Given the description of an element on the screen output the (x, y) to click on. 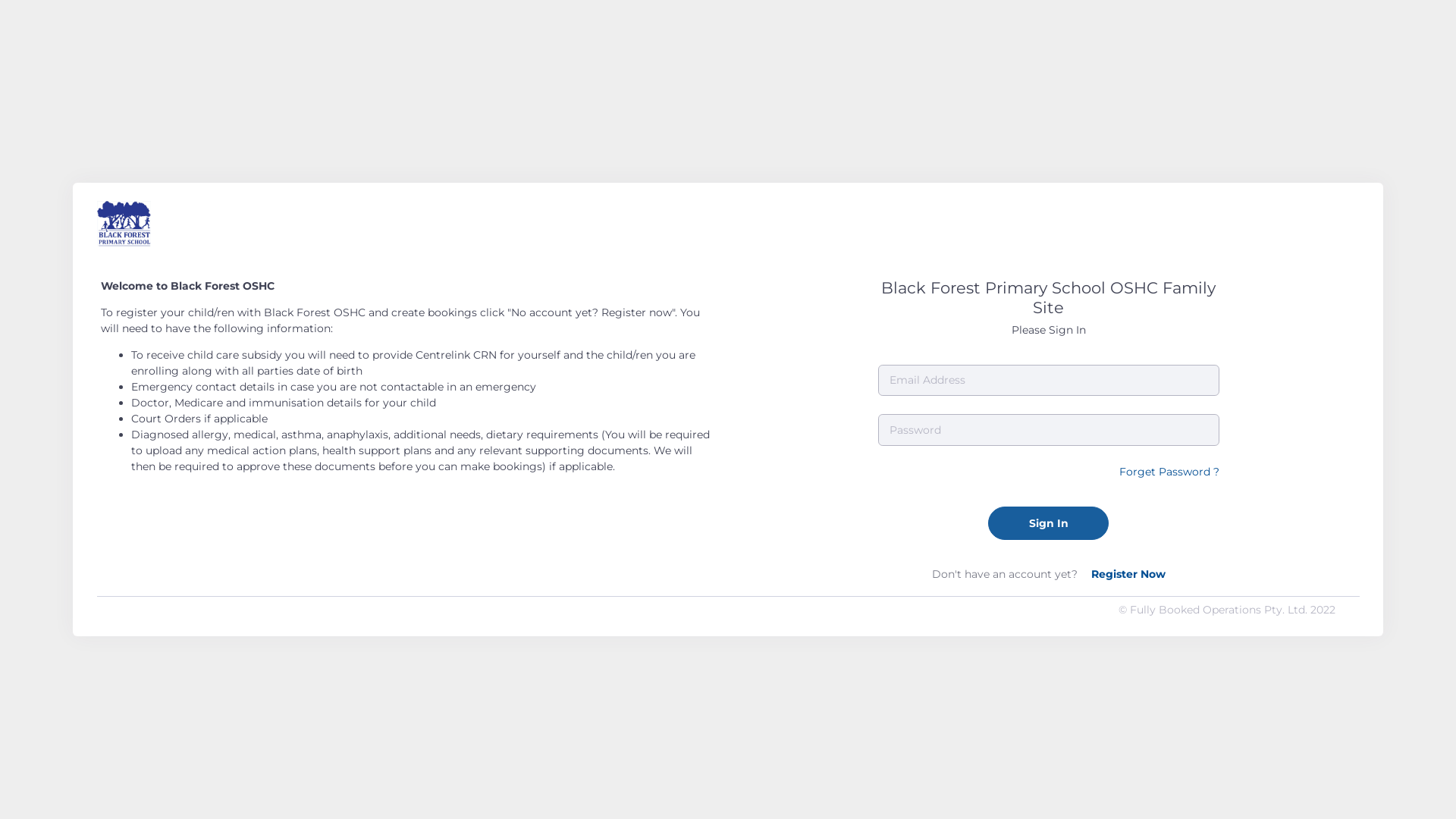
Forget Password ? Element type: text (1169, 471)
Sign In Element type: text (1048, 522)
Register Now Element type: text (1127, 573)
